Given the description of an element on the screen output the (x, y) to click on. 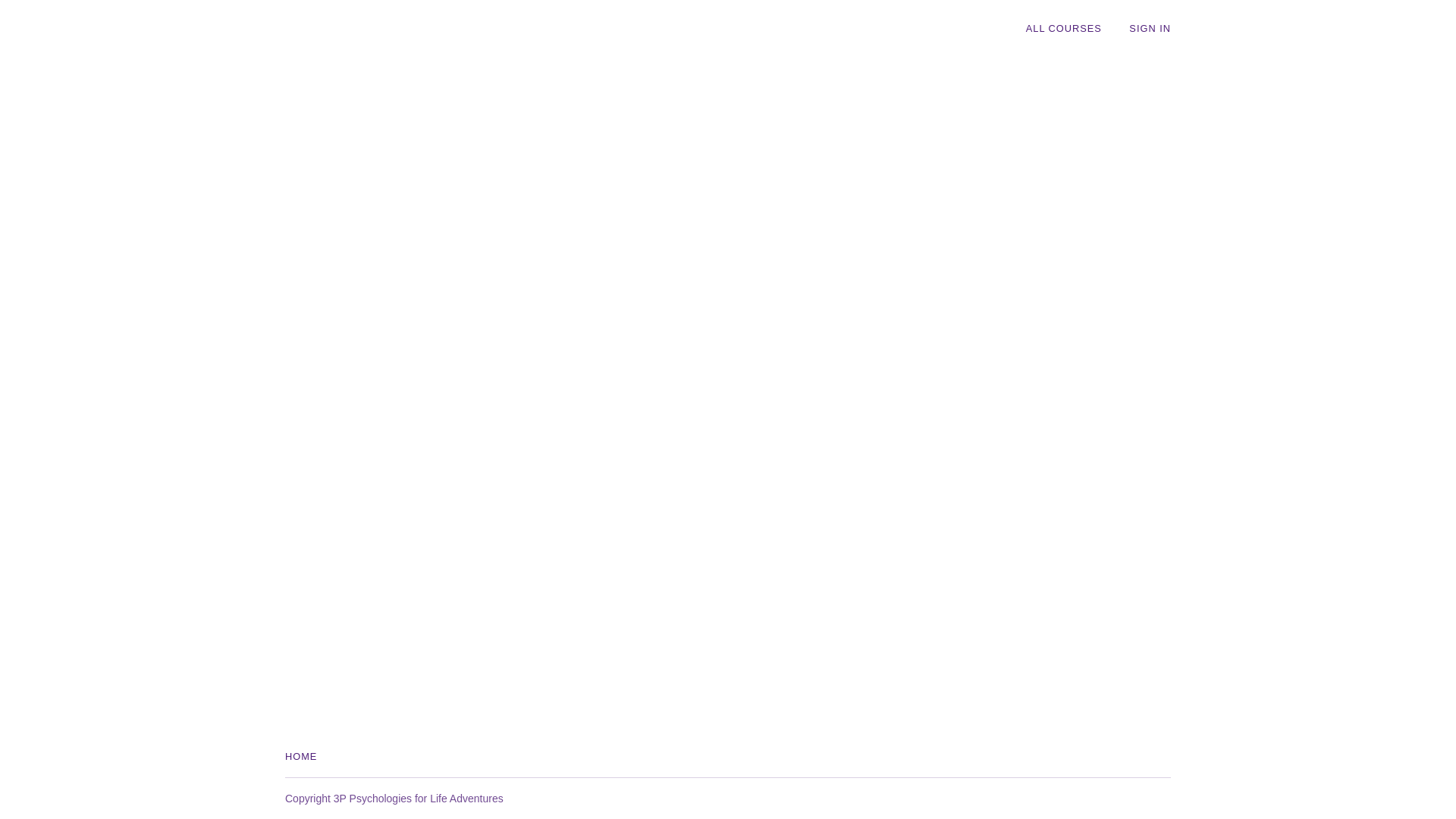
ALL COURSES Element type: text (1063, 28)
SIGN IN Element type: text (1149, 28)
HOME Element type: text (300, 756)
